Given the description of an element on the screen output the (x, y) to click on. 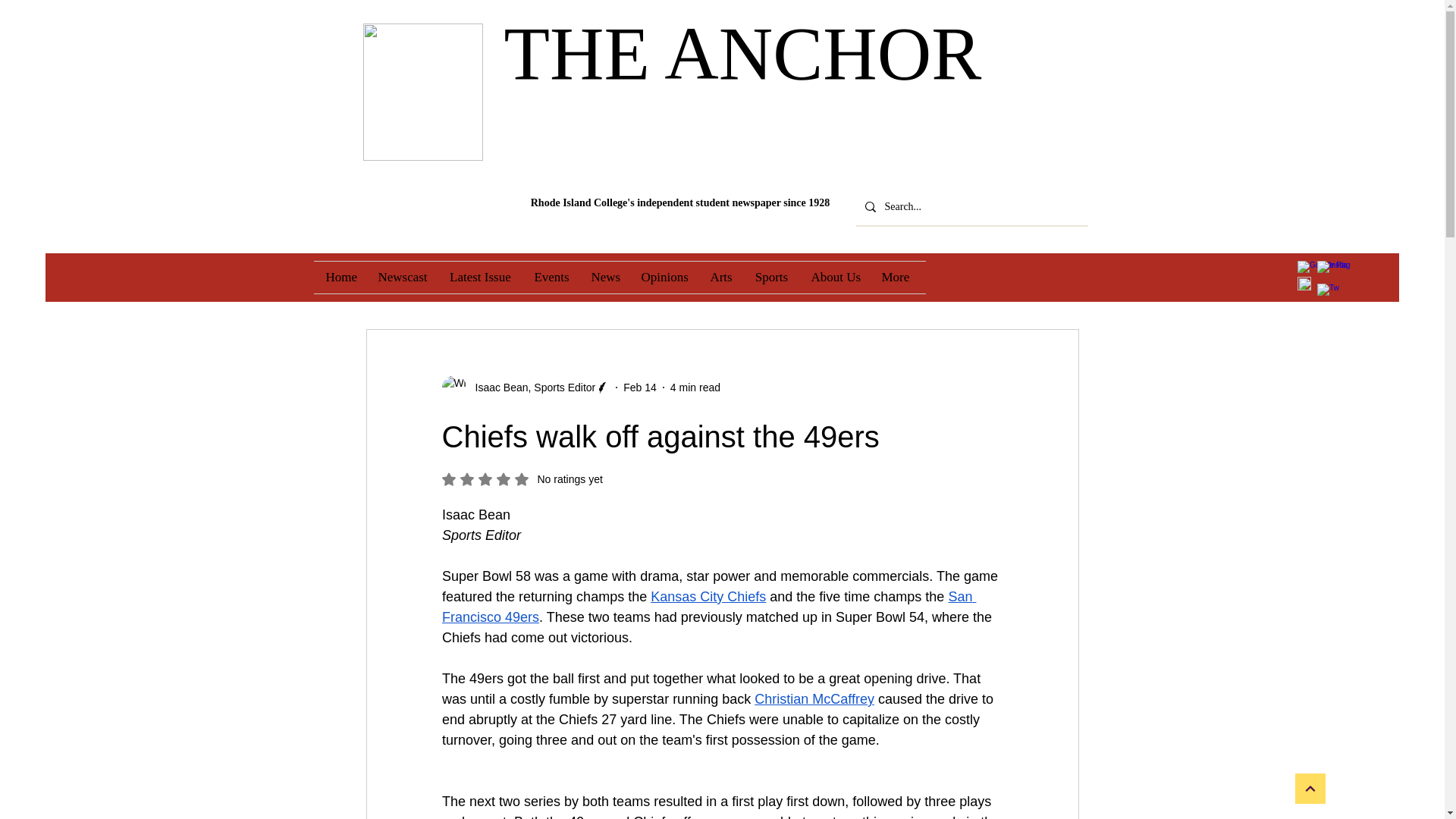
Feb 14 (639, 386)
Isaac Bean, Sports Editor (530, 386)
News (603, 277)
Opinions (663, 277)
Newscast (402, 277)
Arts (720, 277)
Sports (770, 277)
About Us (834, 277)
Home (340, 277)
4 min read (694, 386)
